Given the description of an element on the screen output the (x, y) to click on. 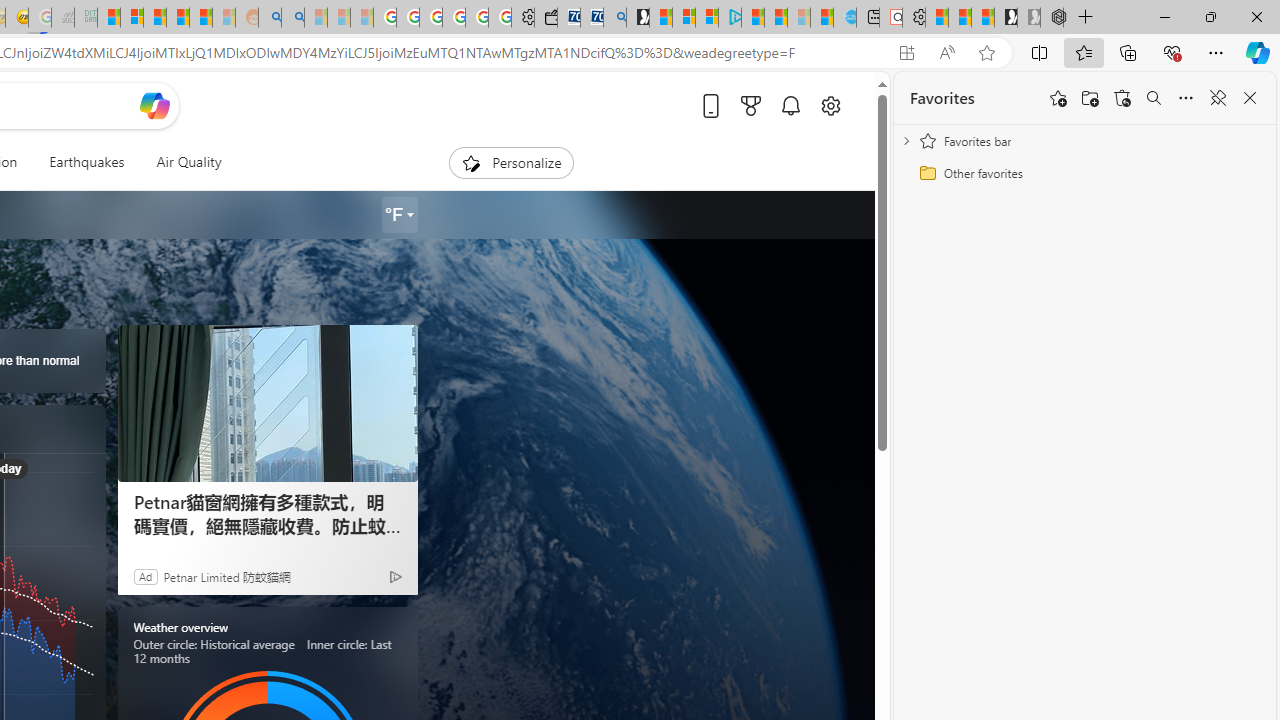
Student Loan Update: Forgiveness Program Ends This Month (200, 17)
Unpin favorites (1217, 98)
Air Quality (180, 162)
